Given the description of an element on the screen output the (x, y) to click on. 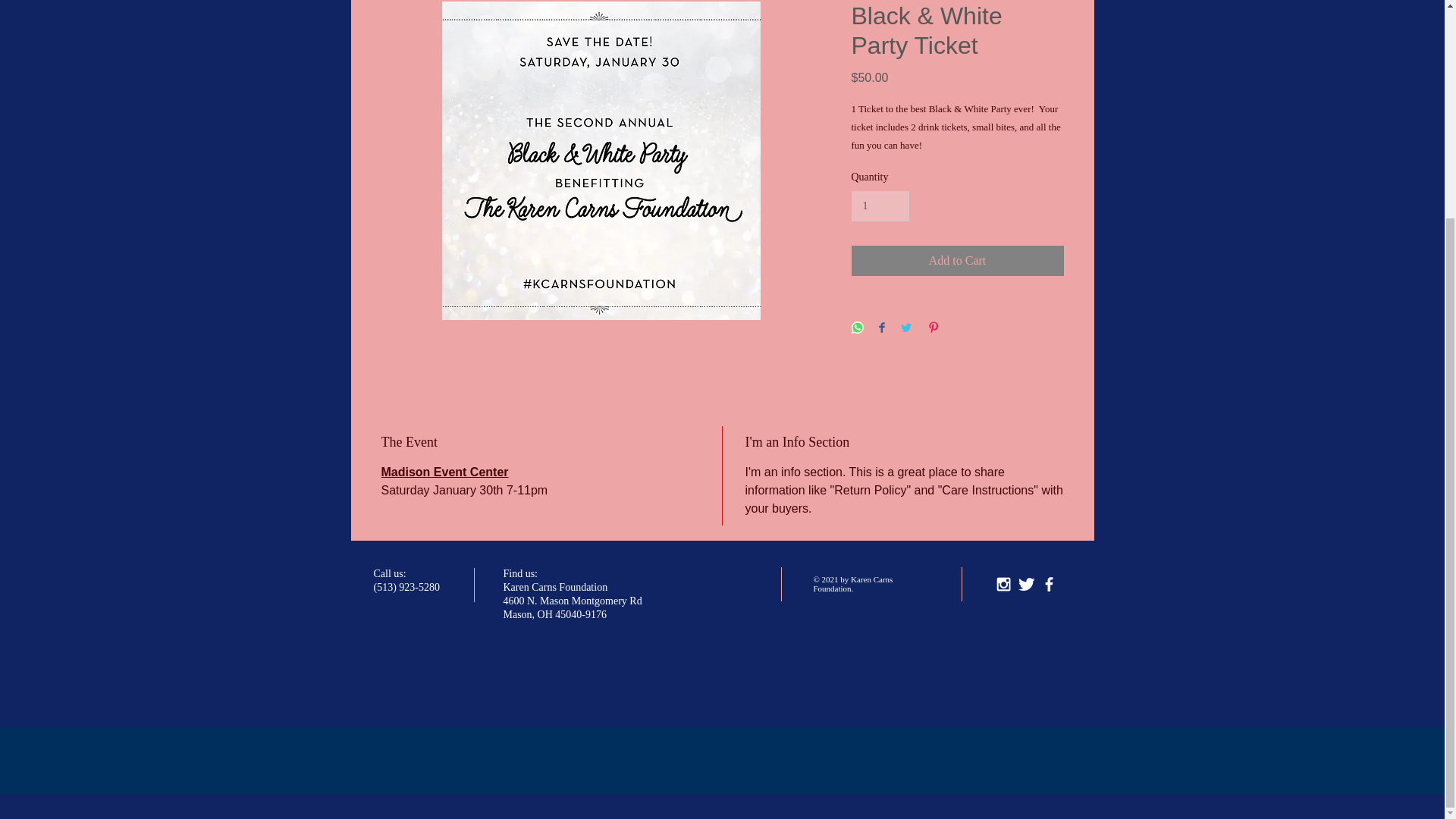
1 (879, 205)
Add to Cart (956, 260)
Madison Event Center (444, 472)
